Given the description of an element on the screen output the (x, y) to click on. 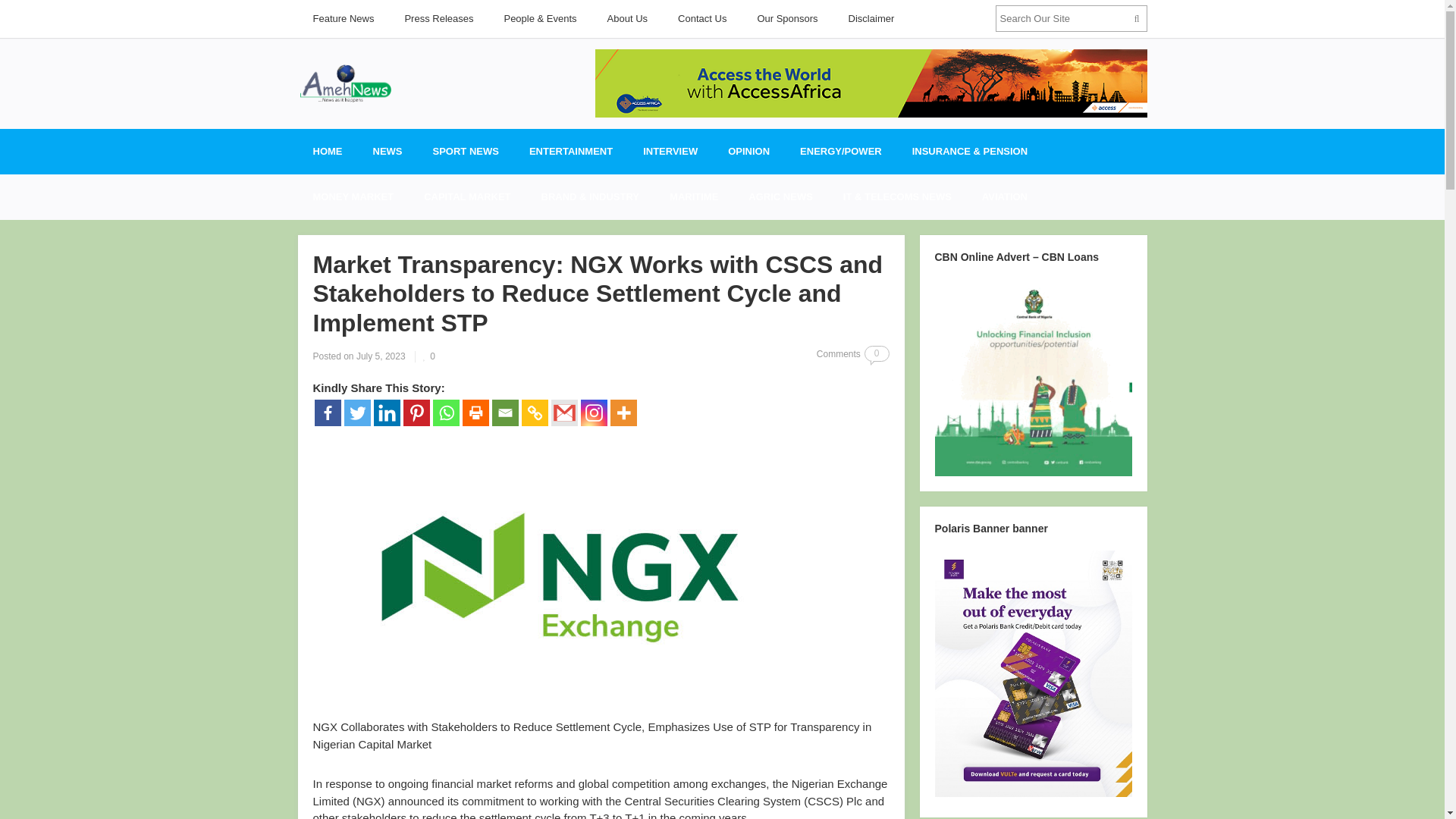
Copy Link (534, 412)
Pinterest (416, 412)
MONEY MARKET (353, 197)
Like this (429, 356)
0 (429, 356)
Mega Menu (387, 151)
Email (505, 412)
Print (476, 412)
Contact Us (701, 18)
Feature News (342, 18)
